Given the description of an element on the screen output the (x, y) to click on. 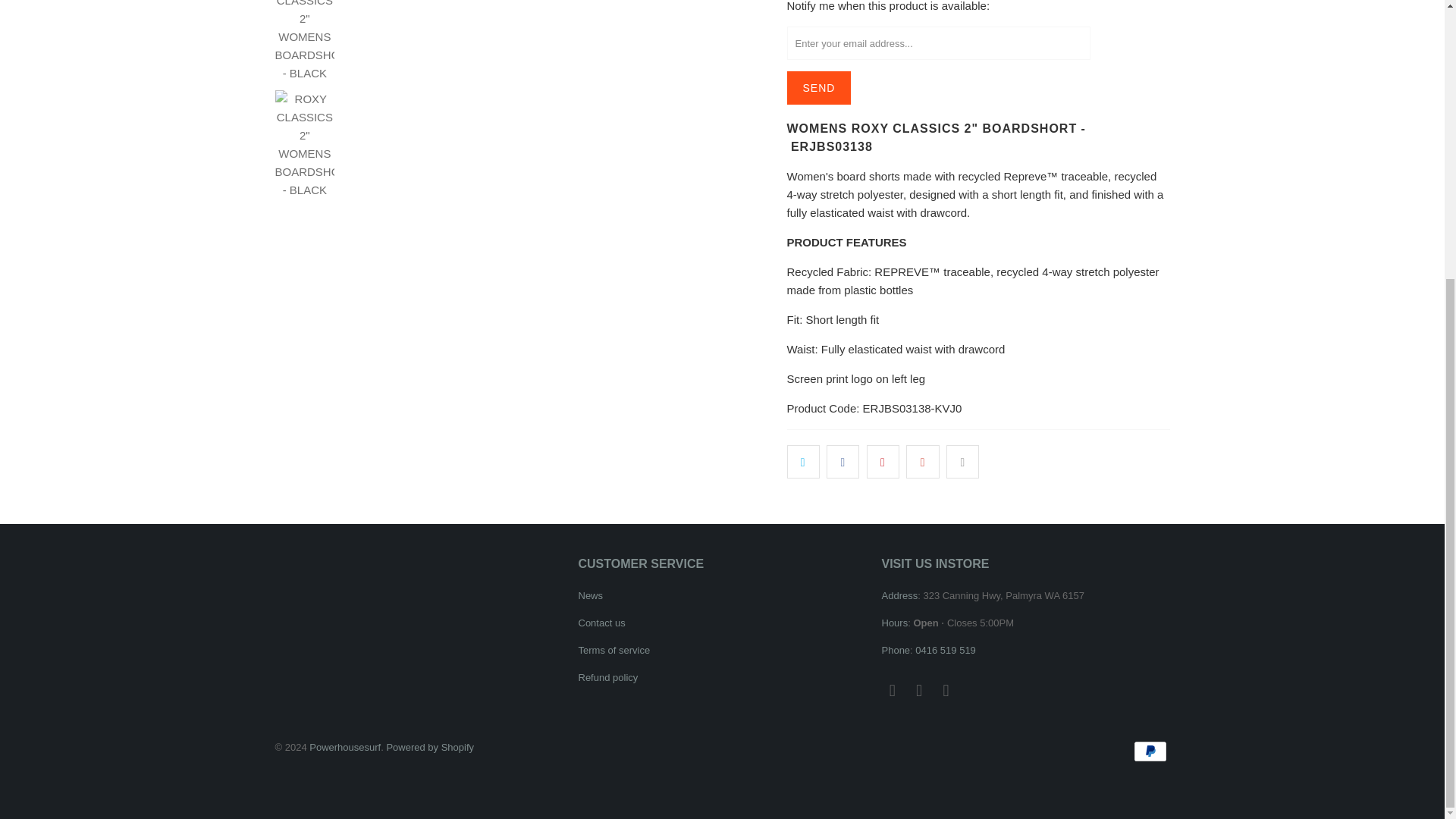
Share this on Twitter (803, 461)
Share this on Pinterest (882, 461)
PayPal (1150, 751)
Powerhousesurf on Facebook (892, 690)
Share this on Facebook (843, 461)
Email this to a friend (962, 461)
Send (819, 87)
Powerhousesurf on Instagram (919, 690)
Call via Hangouts (945, 650)
